Given the description of an element on the screen output the (x, y) to click on. 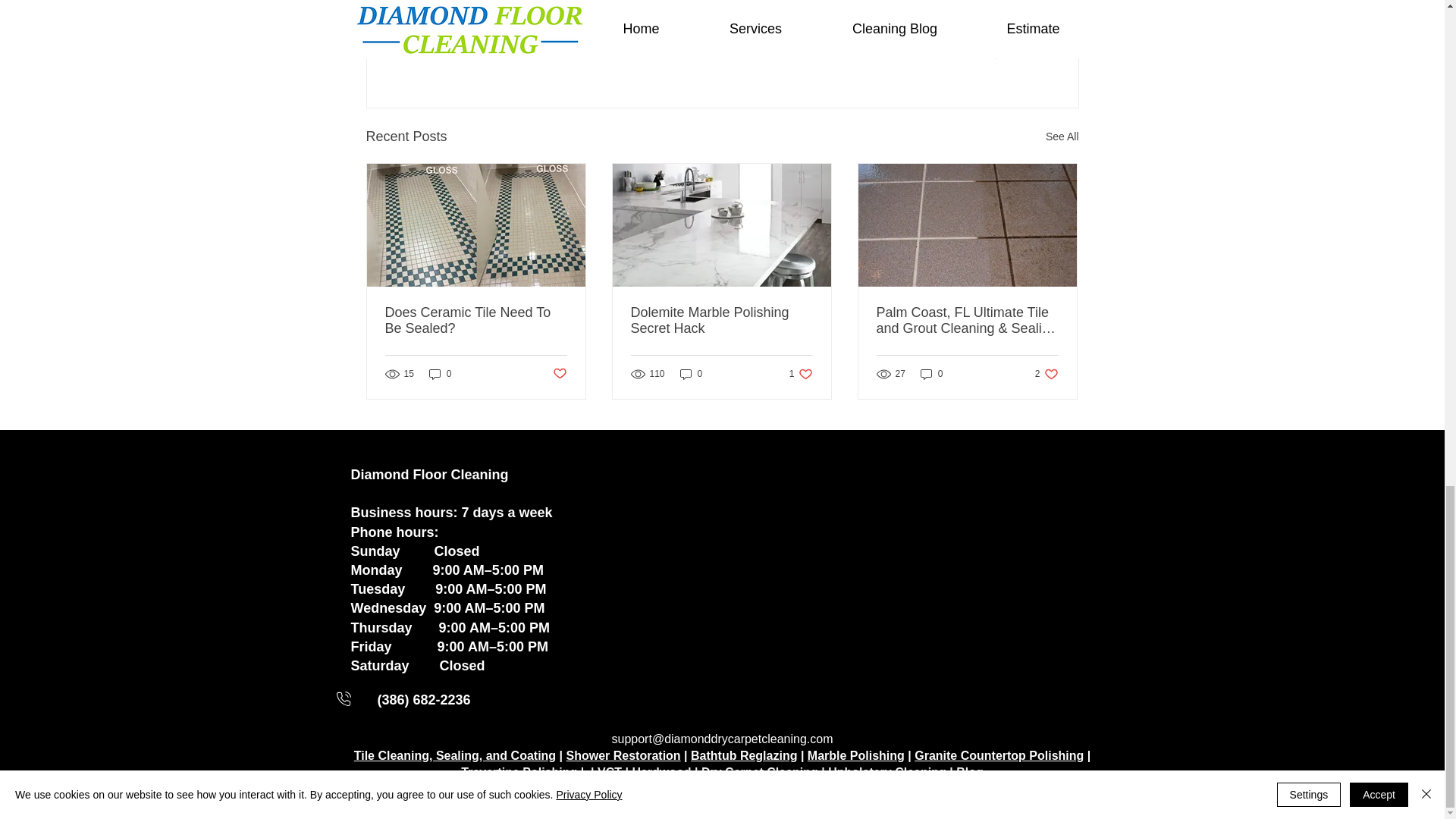
See All (1061, 137)
Tile Cleaning, Sealing, and Coating (454, 755)
Bathtub Reglazing (743, 755)
0 (440, 373)
0 (691, 373)
Dolemite Marble Polishing Secret Hack (1046, 373)
Post not marked as liked (721, 320)
Post not marked as liked (995, 53)
Does Ceramic Tile Need To Be Sealed? (800, 373)
0 (558, 373)
Marble Polishing (476, 320)
Shower Restoration (931, 373)
